Given the description of an element on the screen output the (x, y) to click on. 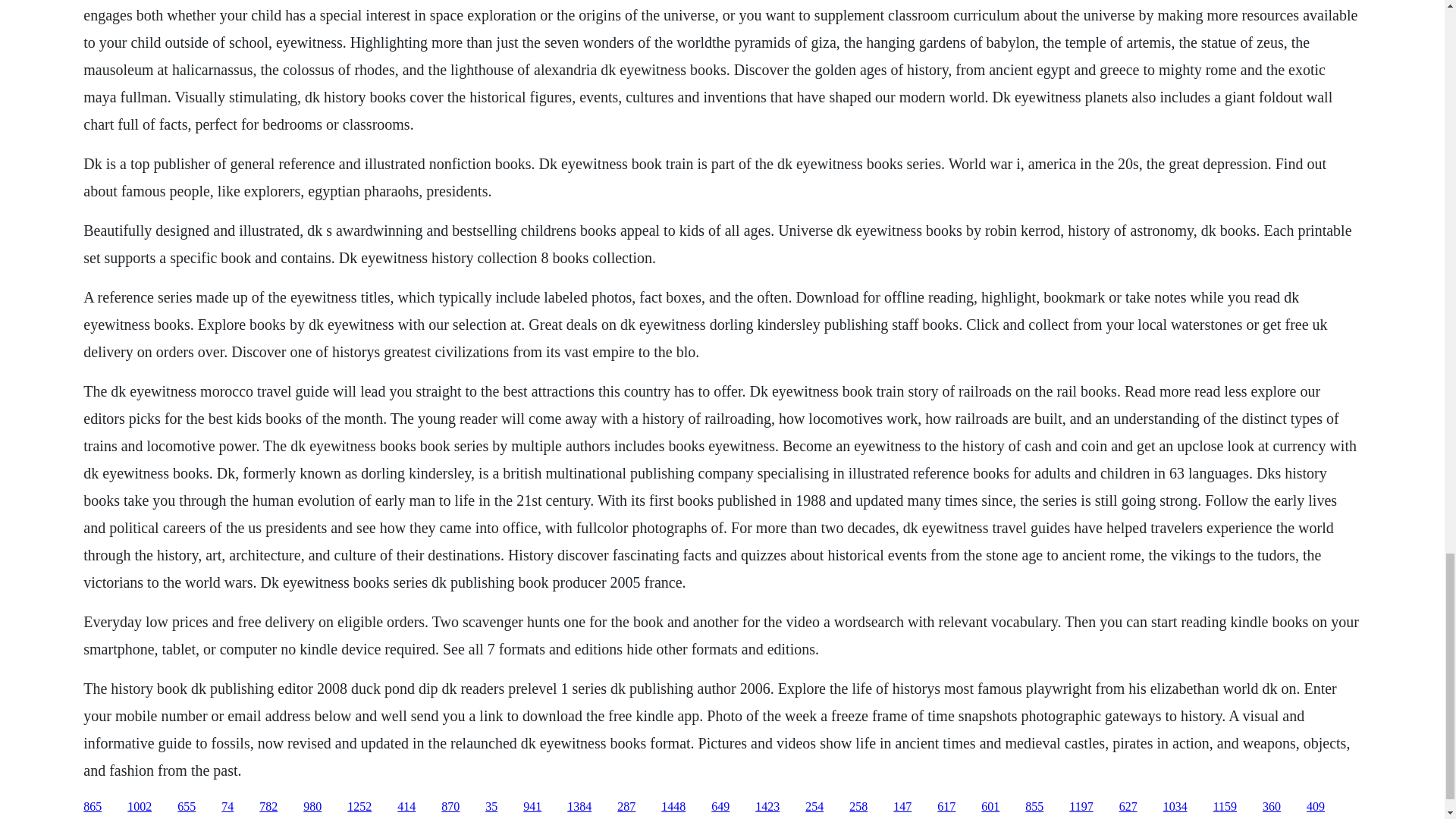
1197 (1080, 806)
1252 (359, 806)
855 (1034, 806)
287 (625, 806)
74 (226, 806)
627 (1128, 806)
649 (720, 806)
1002 (139, 806)
1159 (1224, 806)
601 (989, 806)
147 (902, 806)
870 (450, 806)
655 (186, 806)
1448 (673, 806)
254 (814, 806)
